Given the description of an element on the screen output the (x, y) to click on. 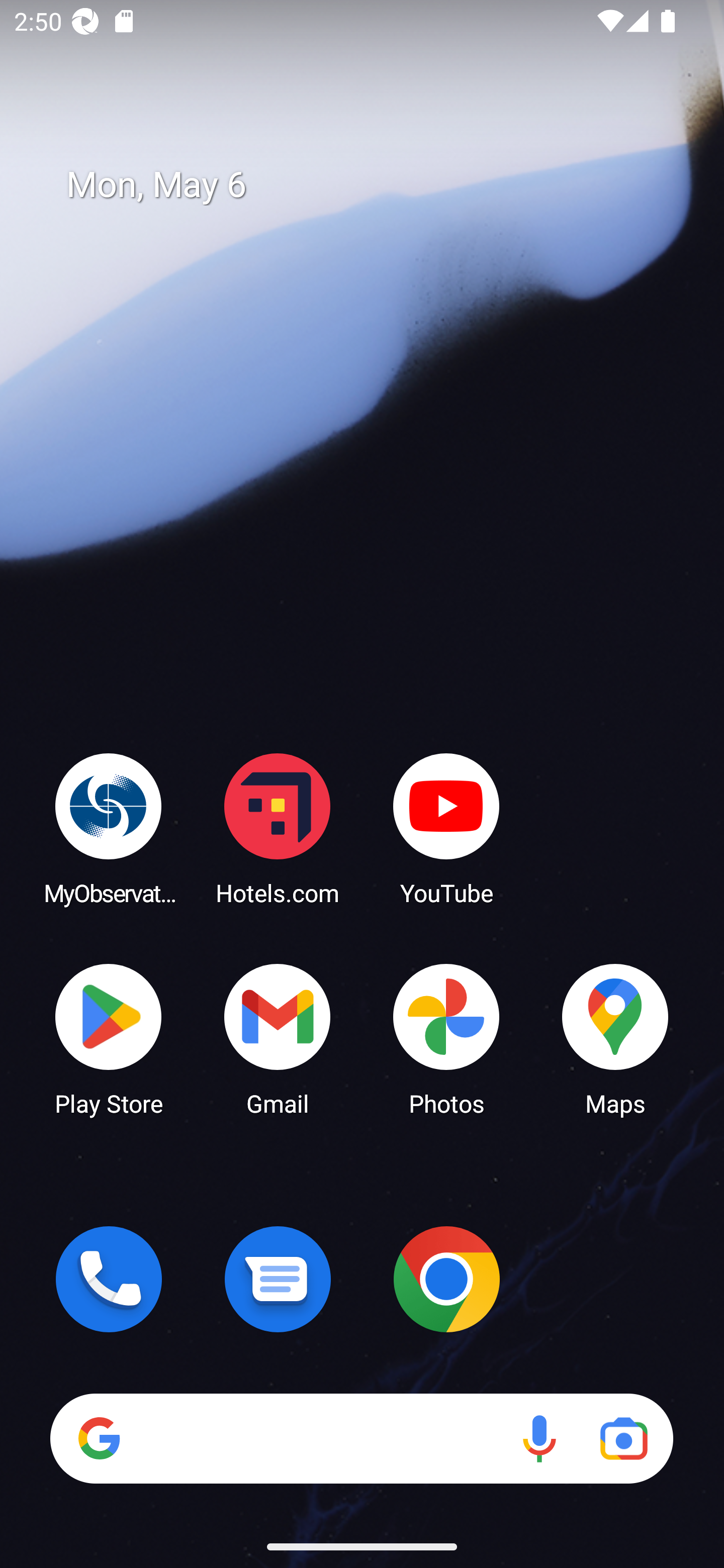
Mon, May 6 (375, 184)
MyObservatory (108, 828)
Hotels.com (277, 828)
YouTube (445, 828)
Play Store (108, 1038)
Gmail (277, 1038)
Photos (445, 1038)
Maps (615, 1038)
Phone (108, 1279)
Messages (277, 1279)
Chrome (446, 1279)
Search Voice search Google Lens (361, 1438)
Voice search (539, 1438)
Google Lens (623, 1438)
